Given the description of an element on the screen output the (x, y) to click on. 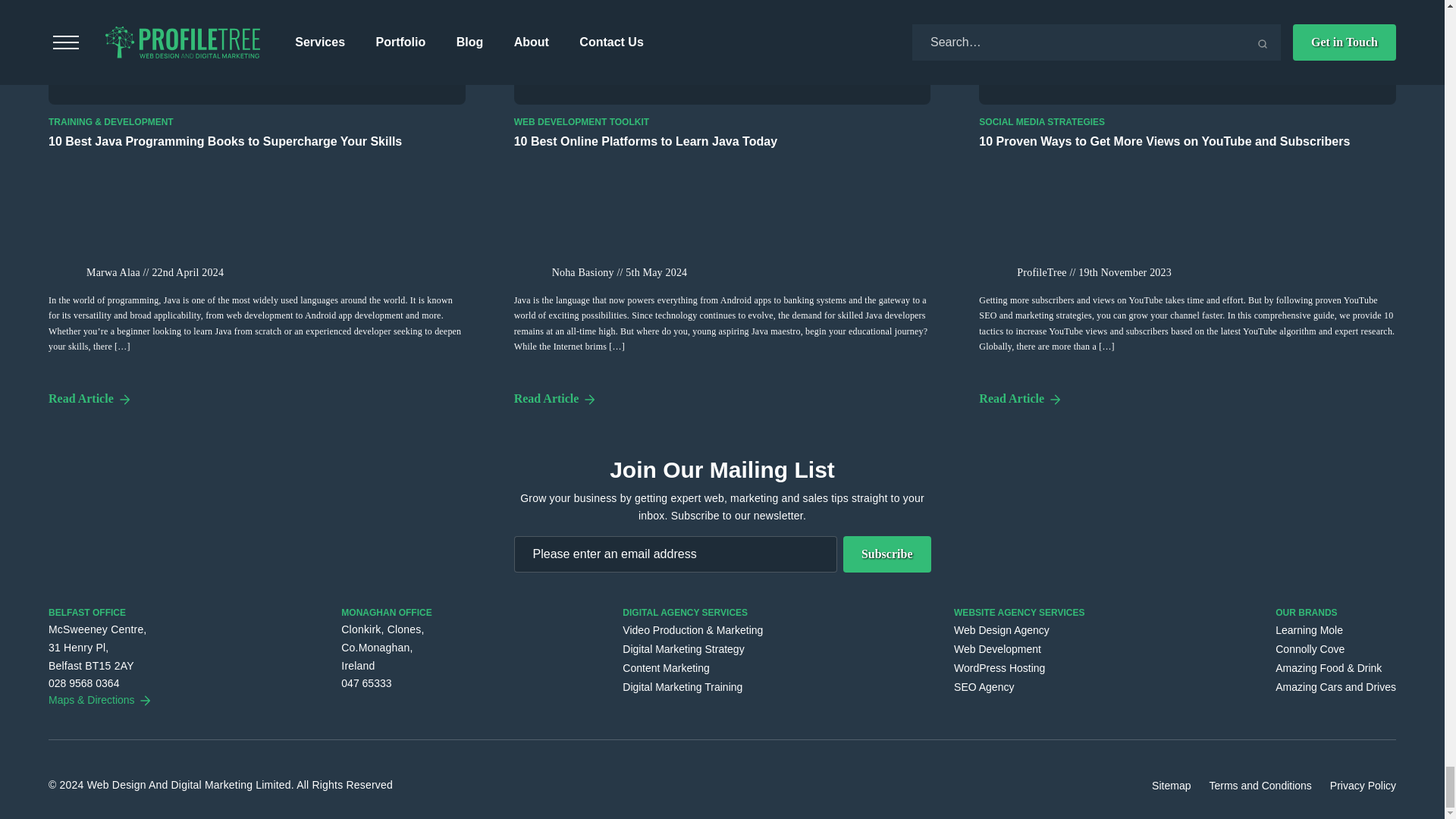
Subscribe (887, 554)
